Given the description of an element on the screen output the (x, y) to click on. 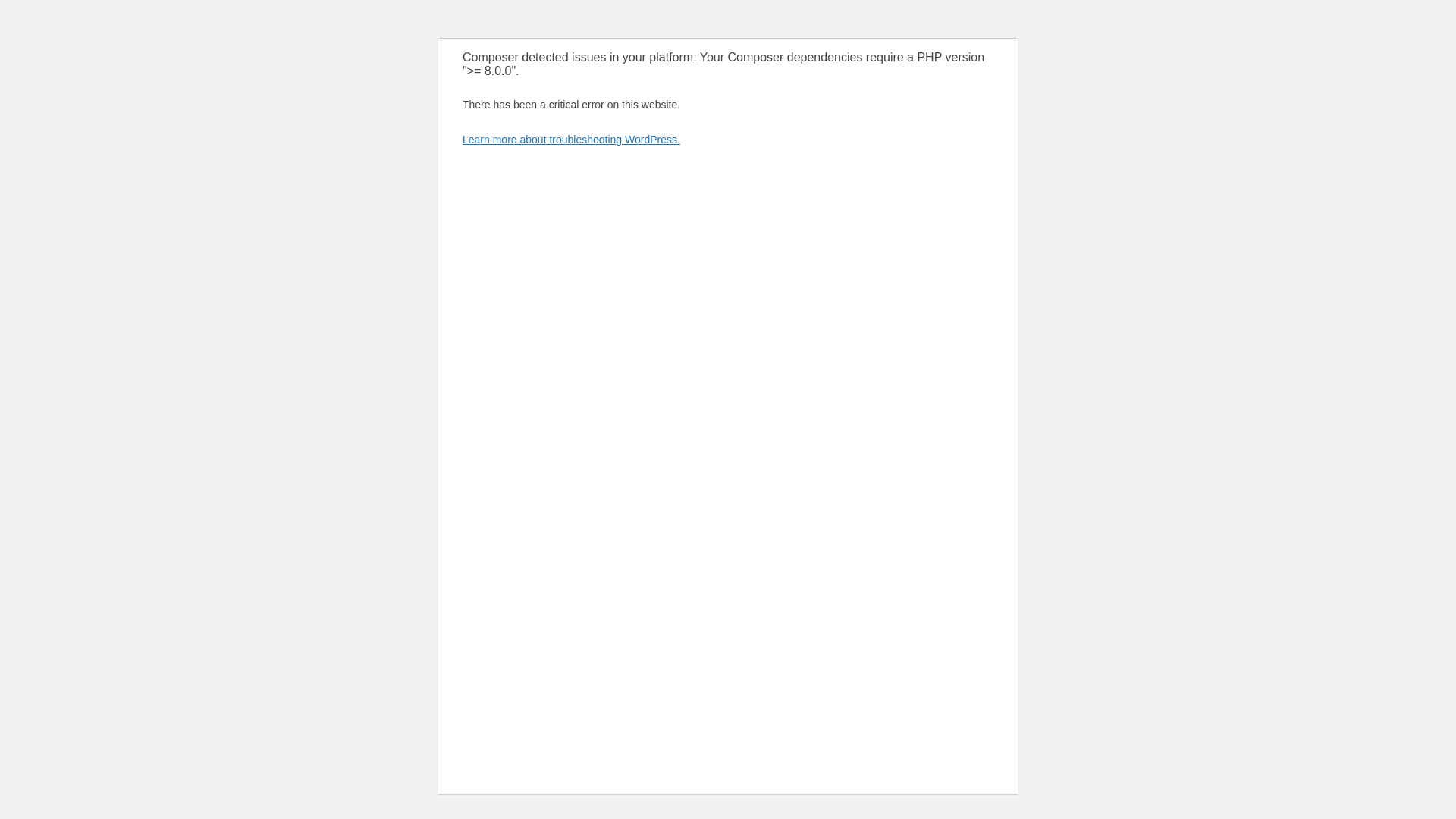
Learn more about troubleshooting WordPress. (571, 139)
